Given the description of an element on the screen output the (x, y) to click on. 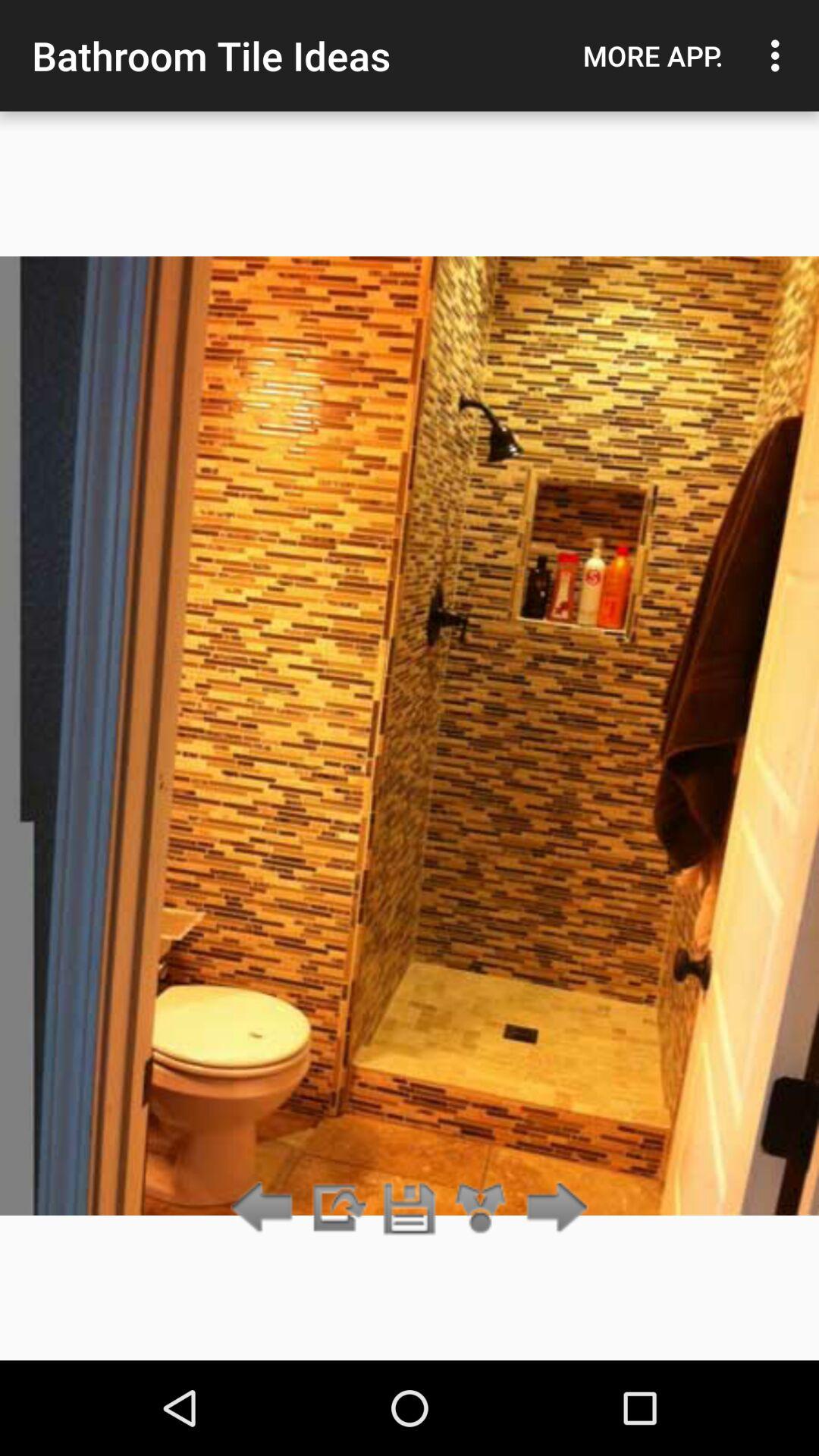
go forward (552, 1209)
